Given the description of an element on the screen output the (x, y) to click on. 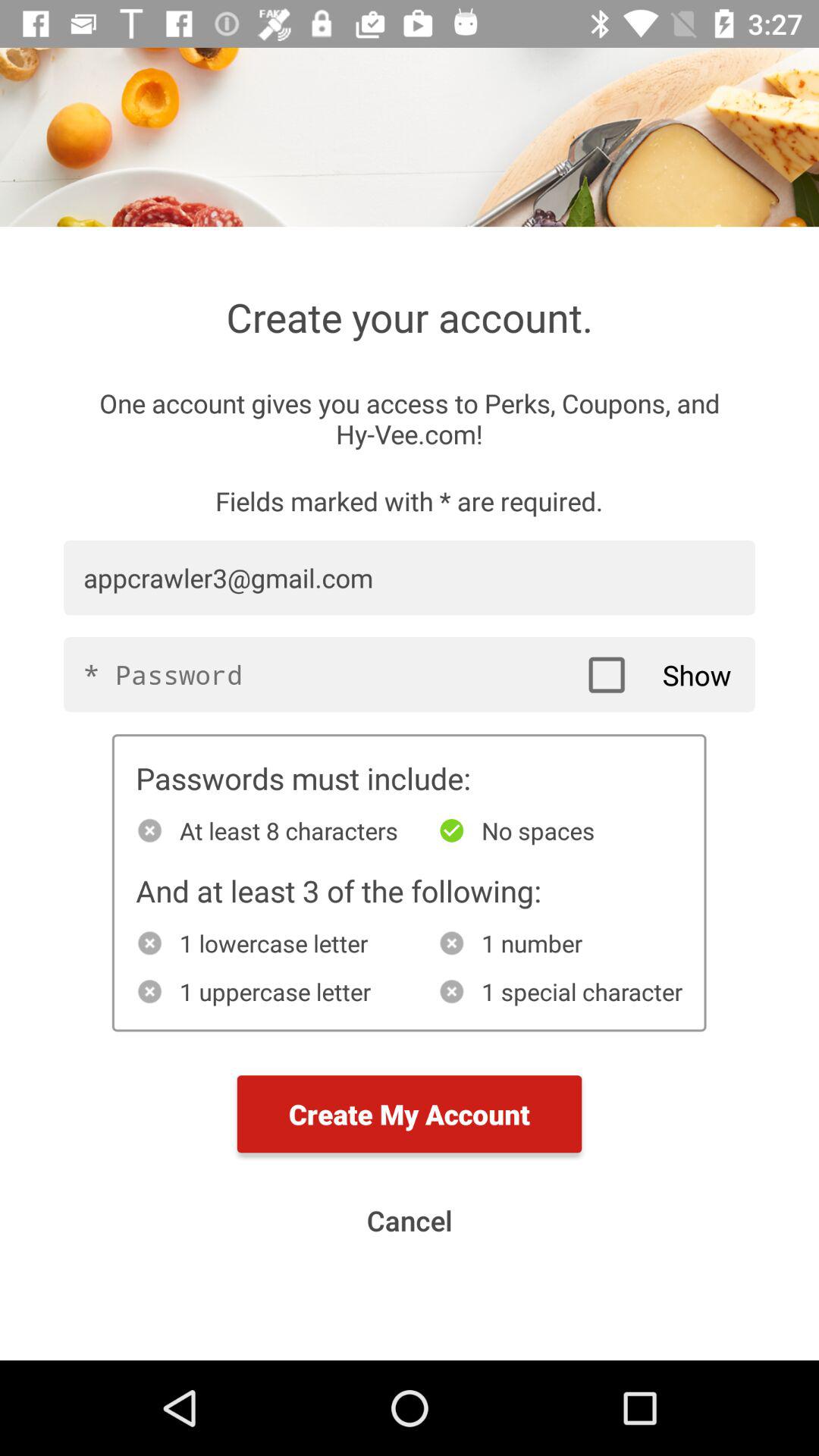
click the cancel button on the web page (409, 1220)
click on the first text field of the page (409, 566)
click the button above the cancel button on the web page (409, 1114)
select gmail text field (409, 577)
